Given the description of an element on the screen output the (x, y) to click on. 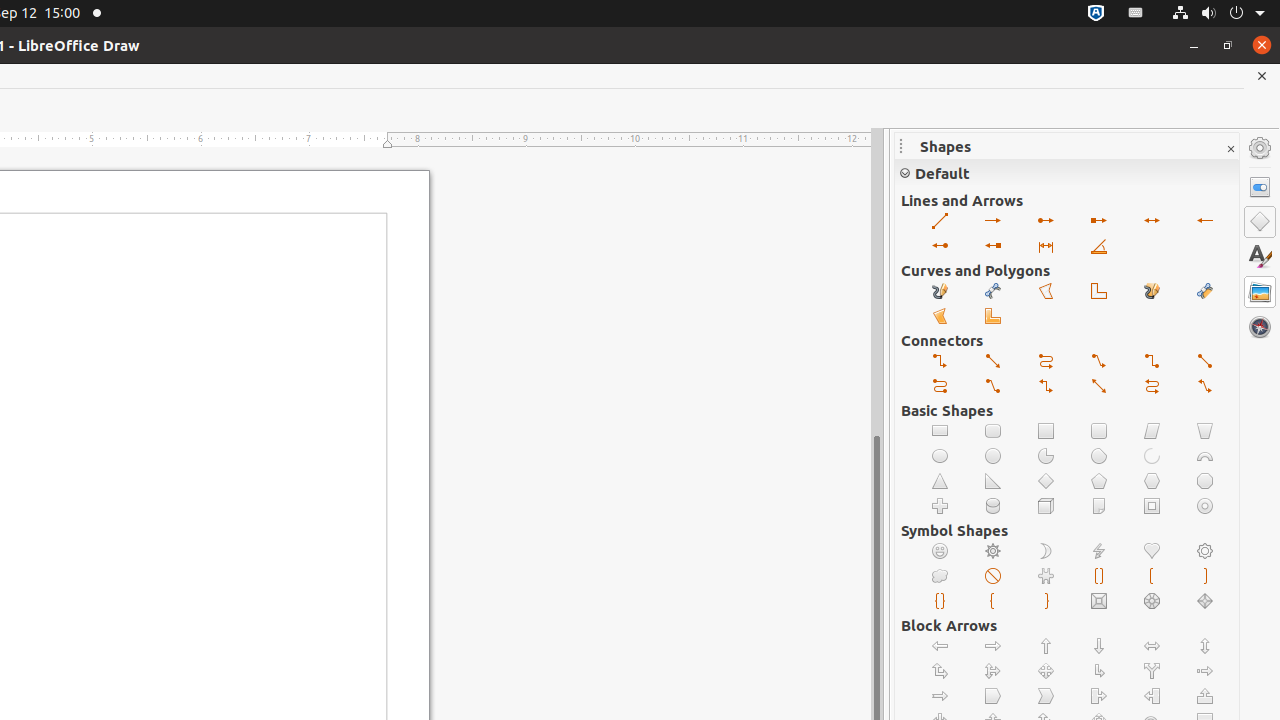
Ring Element type: list-item (1205, 506)
